Given the description of an element on the screen output the (x, y) to click on. 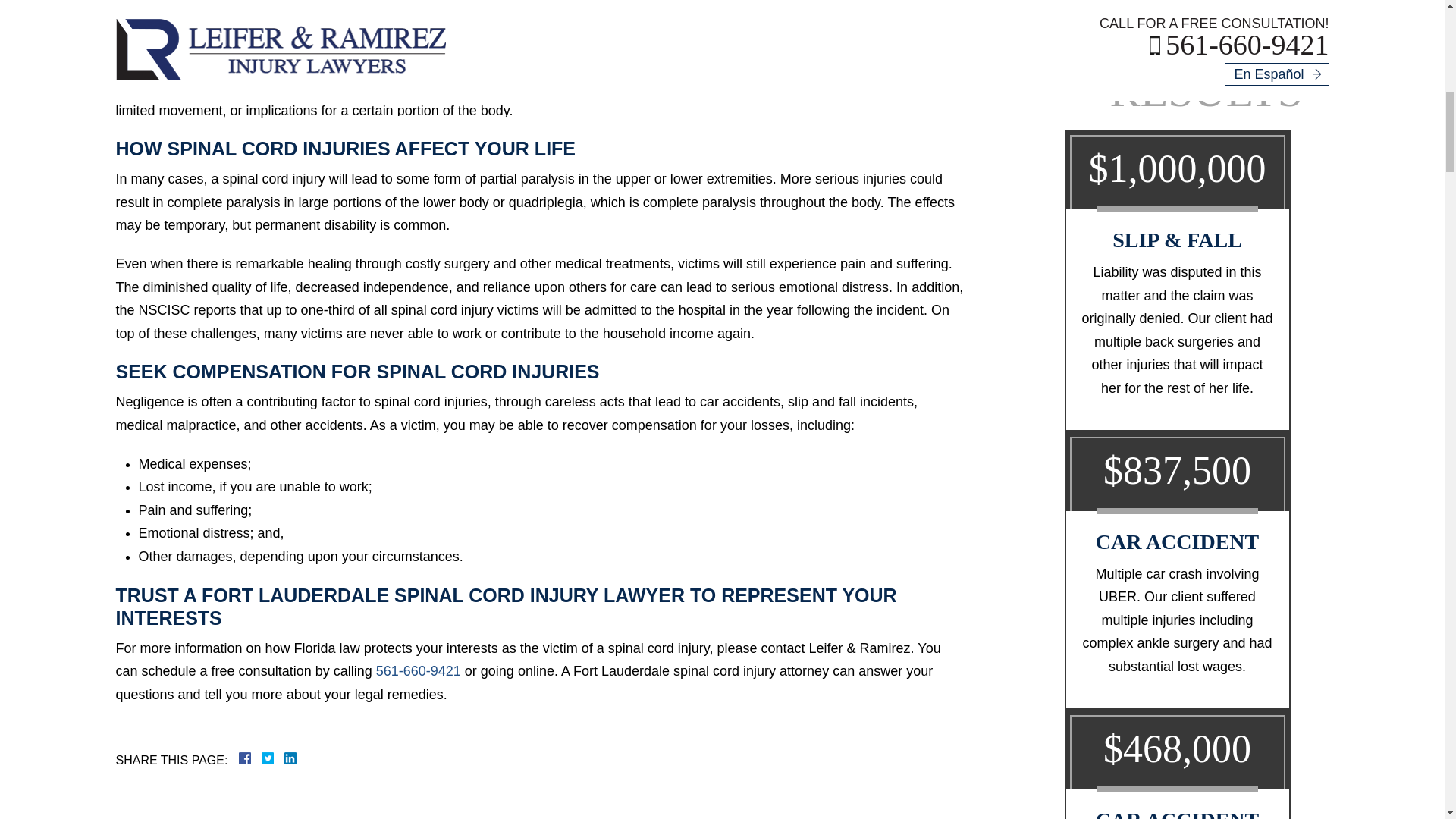
LinkedIn (284, 758)
Twitter (273, 758)
Facebook (262, 758)
561-660-9421 (418, 670)
